Given the description of an element on the screen output the (x, y) to click on. 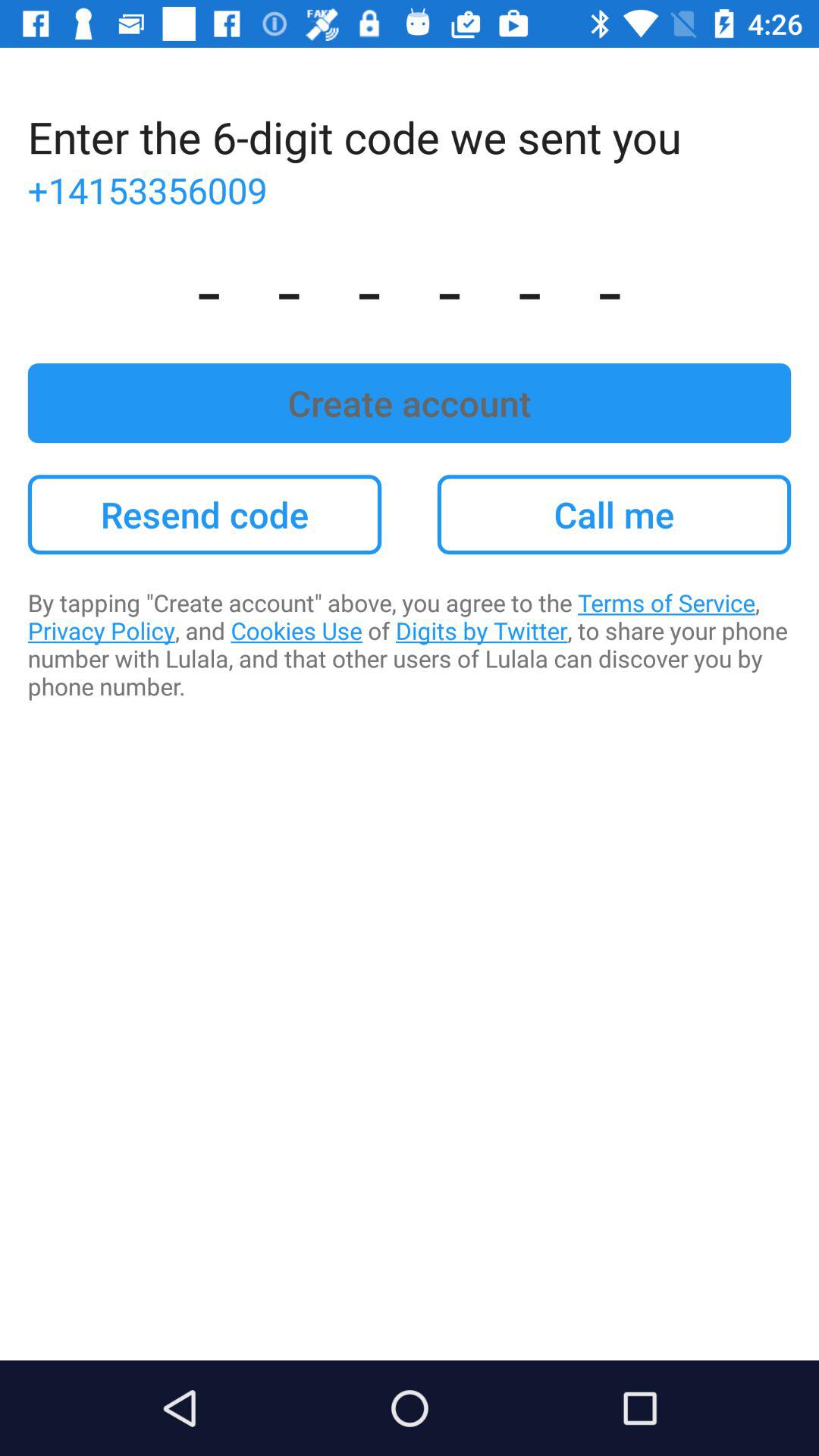
launch the app below the resend code item (409, 644)
